Given the description of an element on the screen output the (x, y) to click on. 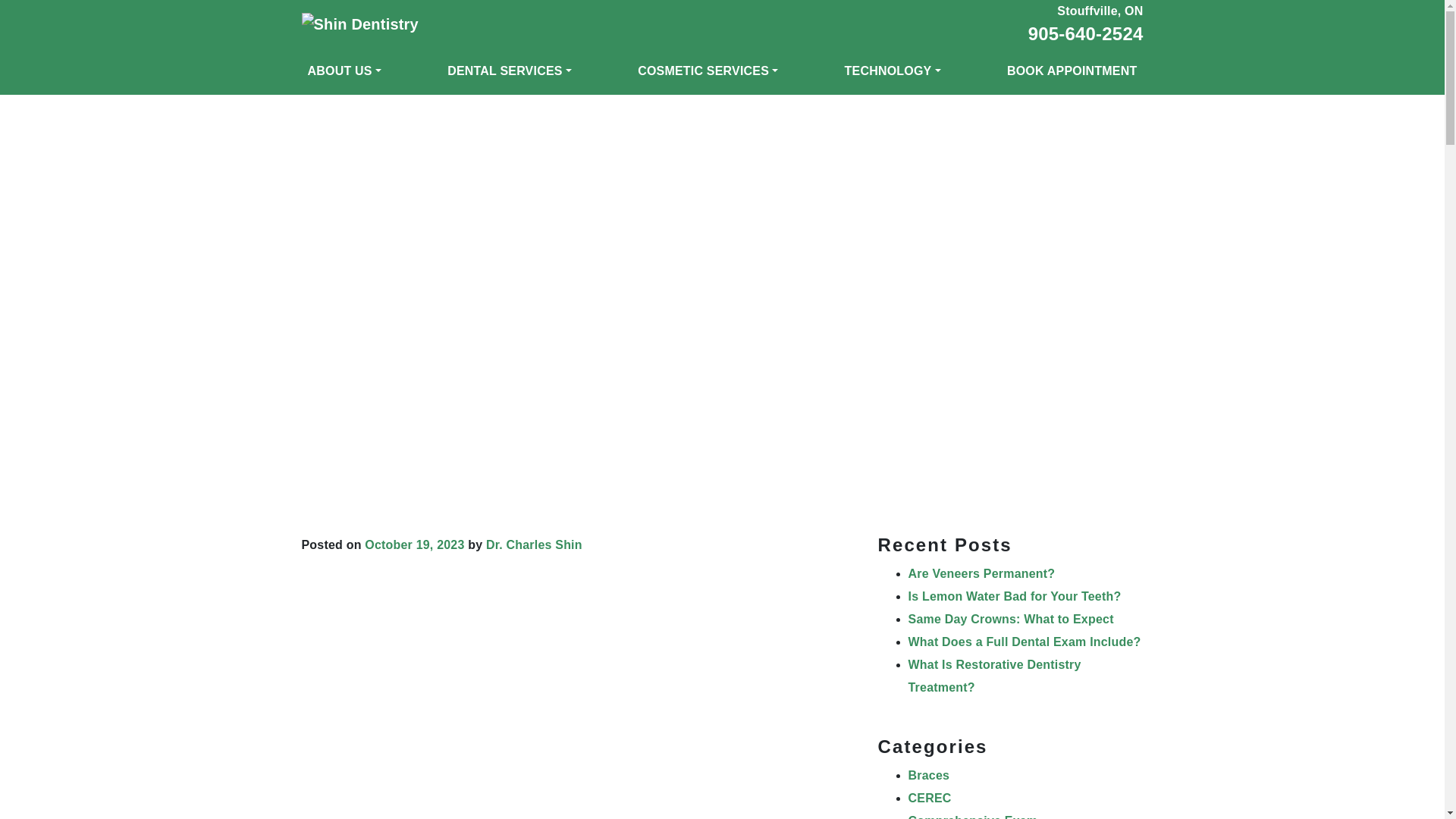
BOOK APPOINTMENT (1071, 71)
About Us (344, 71)
TECHNOLOGY (892, 71)
Dr. Charles Shin (534, 544)
Dental Services (509, 71)
Technology (892, 71)
Cosmetic Services (707, 71)
ABOUT US (344, 71)
905-640-2524 (1084, 33)
COSMETIC SERVICES (707, 71)
